Given the description of an element on the screen output the (x, y) to click on. 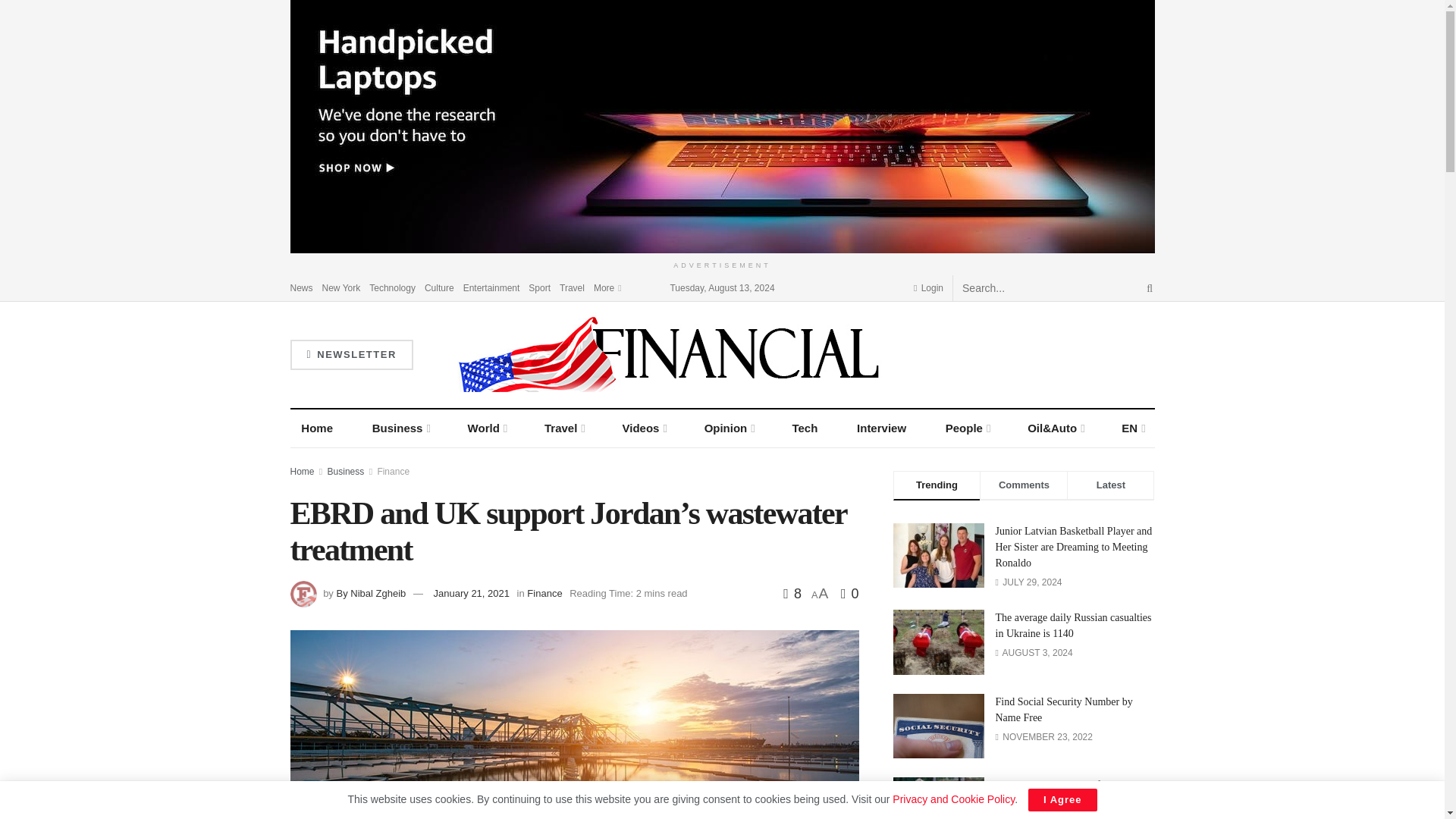
NEWSLETTER (350, 354)
Home (316, 428)
Travel (572, 287)
Technology (391, 287)
Login (928, 287)
Business (400, 428)
World (486, 428)
Entertainment (491, 287)
Culture (439, 287)
New York (341, 287)
